Given the description of an element on the screen output the (x, y) to click on. 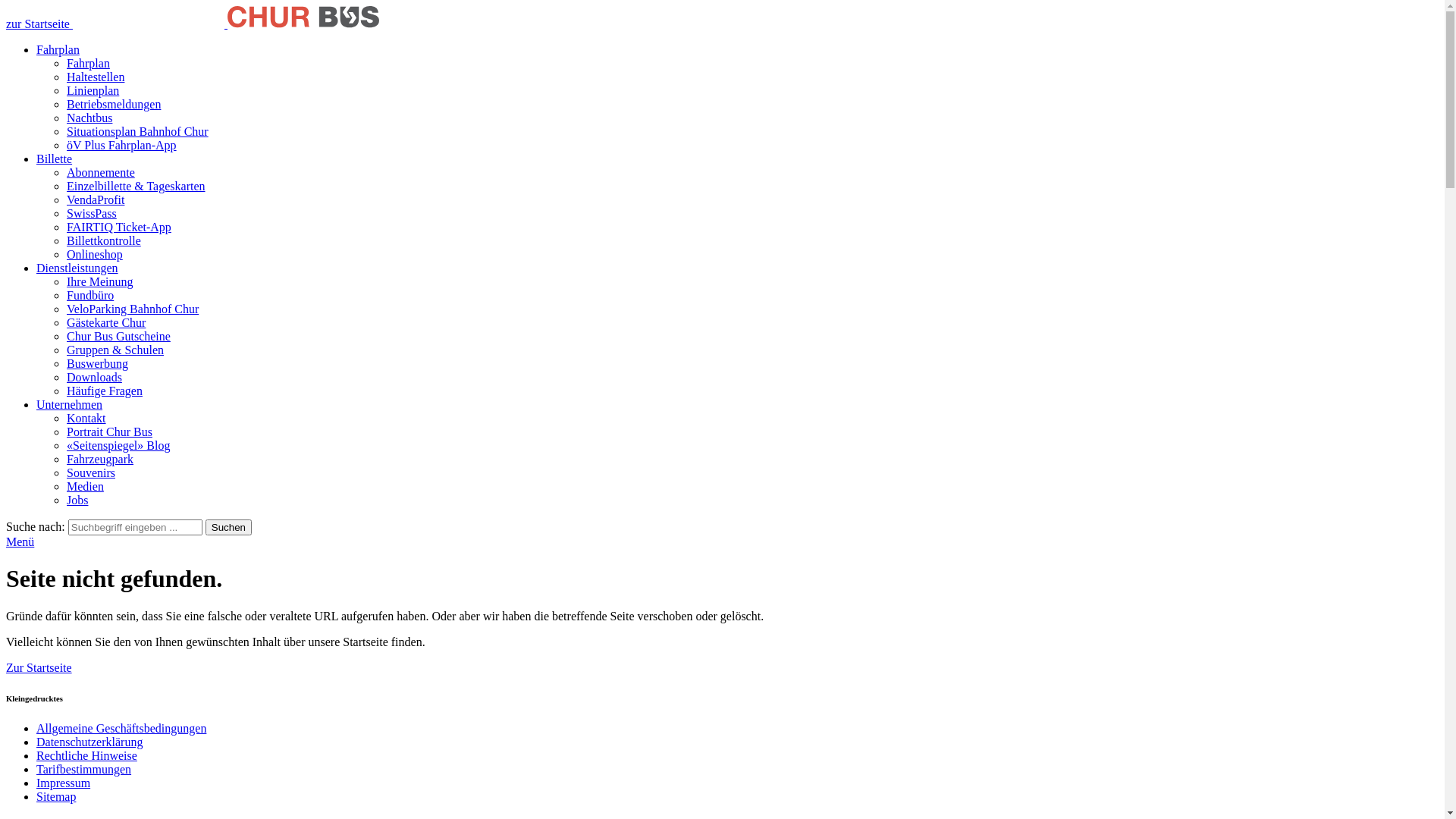
Medien Element type: text (84, 486)
SwissPass Element type: text (91, 213)
Fahrplan Element type: text (87, 62)
Nachtbus Element type: text (89, 117)
zur Startseite Element type: text (722, 18)
Downloads Element type: text (94, 376)
Gruppen & Schulen Element type: text (114, 349)
Tarifbestimmungen Element type: text (83, 768)
Ihre Meinung Element type: text (99, 281)
Sitemap Element type: text (55, 796)
Haltestellen Element type: text (95, 76)
Suche nach Element type: hover (135, 527)
Dienstleistungen Element type: text (77, 267)
Billette Element type: text (54, 158)
Abonnemente Element type: text (100, 172)
VeloParking Bahnhof Chur Element type: text (132, 308)
Impressum Element type: text (63, 782)
Buswerbung Element type: text (97, 363)
VendaProfit Element type: text (95, 199)
Linienplan Element type: text (92, 90)
Billettkontrolle Element type: text (103, 240)
Portrait Chur Bus Element type: text (109, 431)
Onlineshop Element type: text (94, 253)
Rechtliche Hinweise Element type: text (86, 755)
Chur Bus Gutscheine Element type: text (118, 335)
Betriebsmeldungen Element type: text (113, 103)
Suchen Element type: text (228, 527)
Souvenirs Element type: text (90, 472)
Zur Startseite Element type: text (39, 667)
Fahrzeugpark Element type: text (99, 458)
Fahrplan Element type: text (57, 49)
Einzelbillette & Tageskarten Element type: text (135, 185)
Jobs Element type: text (76, 499)
FAIRTIQ Ticket-App Element type: text (118, 226)
Kontakt Element type: text (86, 417)
Situationsplan Bahnhof Chur Element type: text (137, 131)
Unternehmen Element type: text (69, 404)
